Given the description of an element on the screen output the (x, y) to click on. 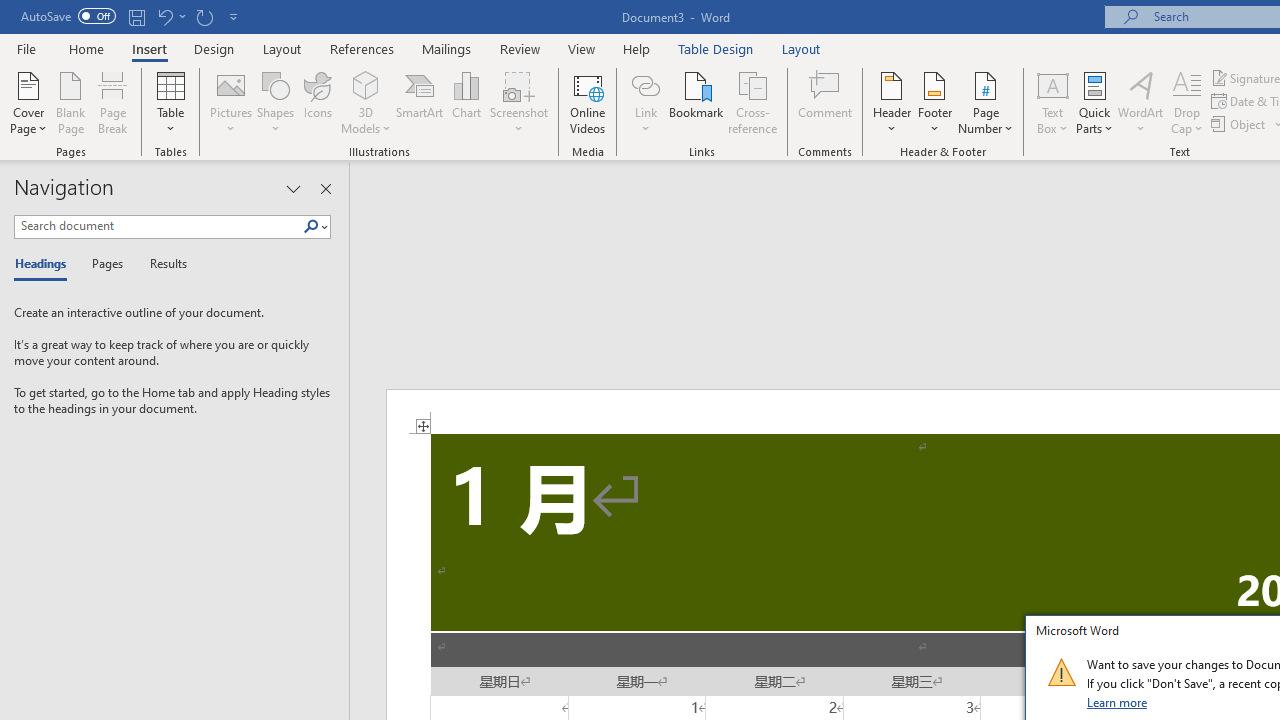
Repeat Doc Close (204, 15)
Design (214, 48)
Search document (157, 226)
View (582, 48)
Link (645, 84)
Cover Page (28, 102)
Header (891, 102)
Bookmark... (695, 102)
Icons (317, 102)
Search (315, 227)
Undo Increase Indent (170, 15)
SmartArt... (419, 102)
Quick Access Toolbar (131, 16)
Layout (801, 48)
